Given the description of an element on the screen output the (x, y) to click on. 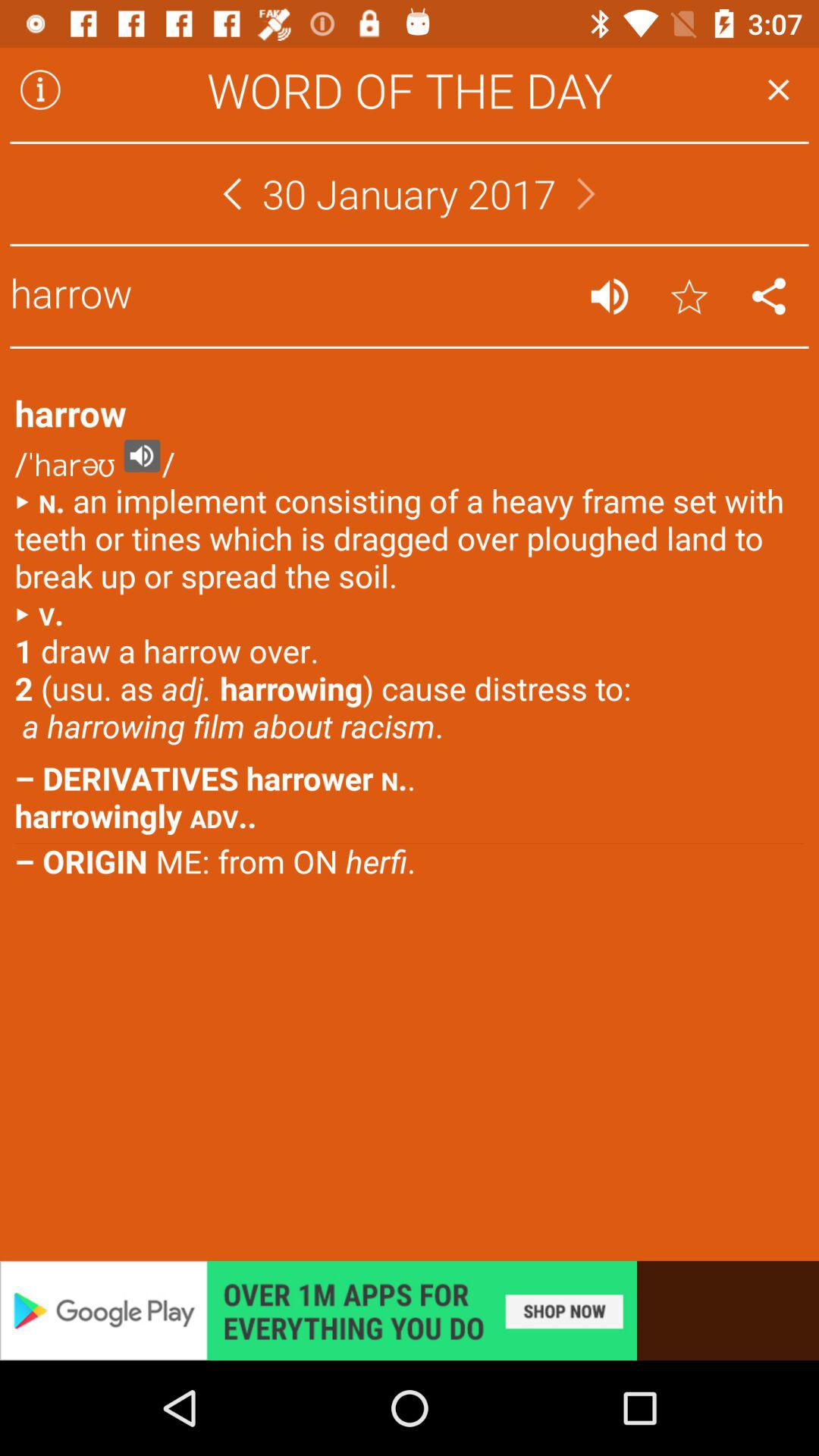
go to next (586, 193)
